Given the description of an element on the screen output the (x, y) to click on. 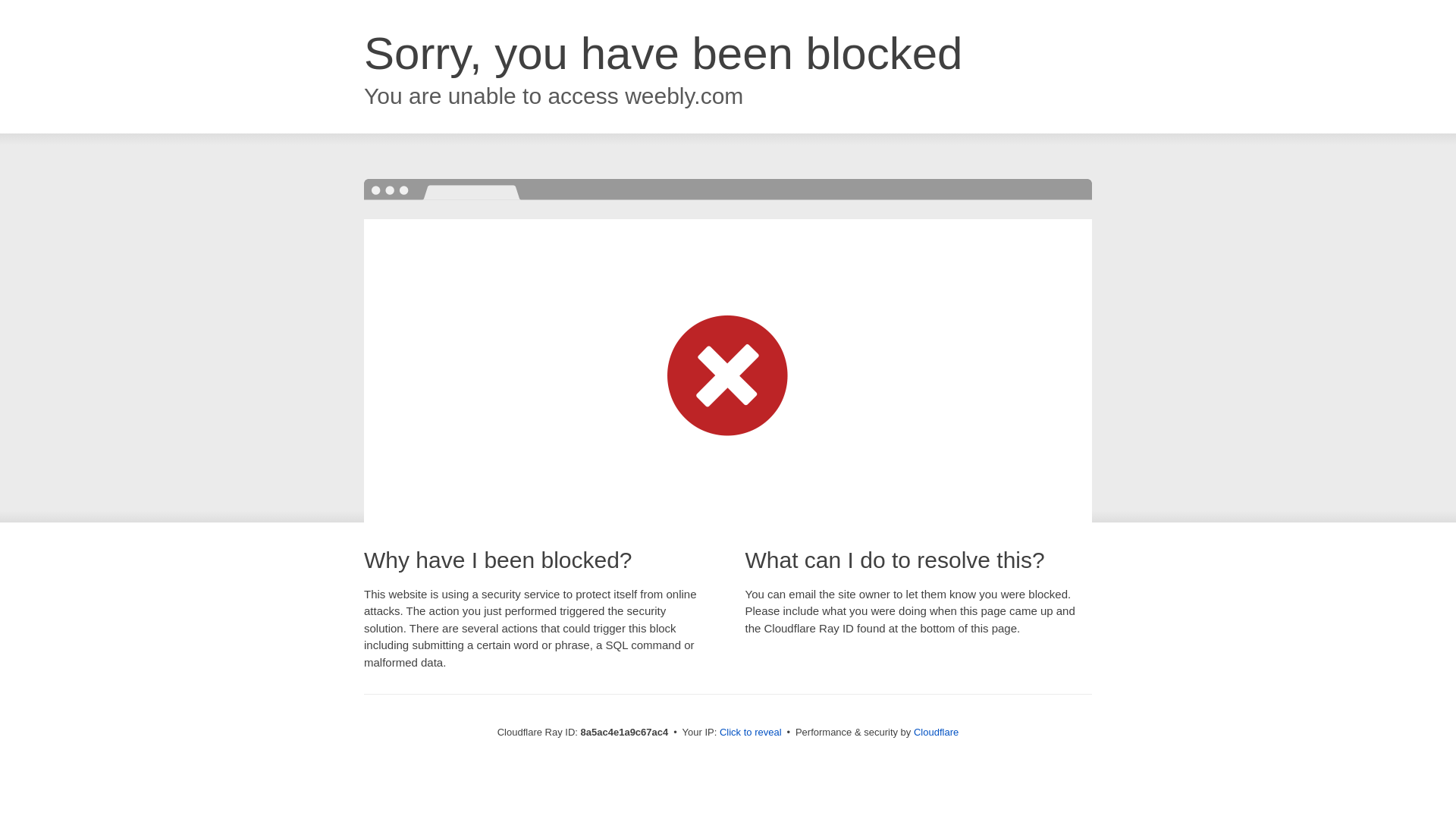
Click to reveal (750, 732)
Cloudflare (936, 731)
